Given the description of an element on the screen output the (x, y) to click on. 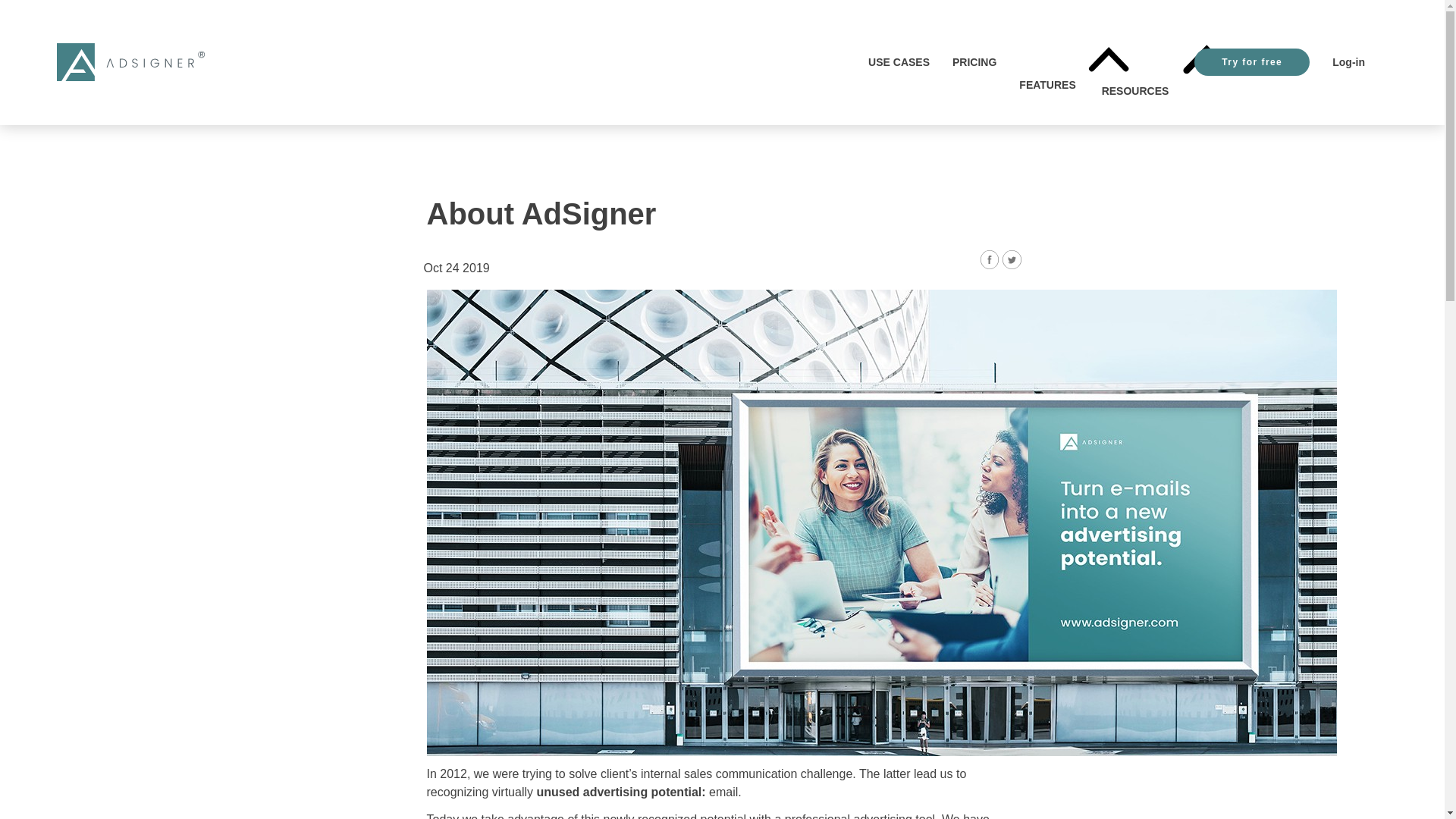
RESOURCES (1137, 62)
PRICING (973, 62)
Try for free (1250, 62)
FEATURES (1048, 62)
USE CASES (898, 62)
Log-in (1348, 62)
